Given the description of an element on the screen output the (x, y) to click on. 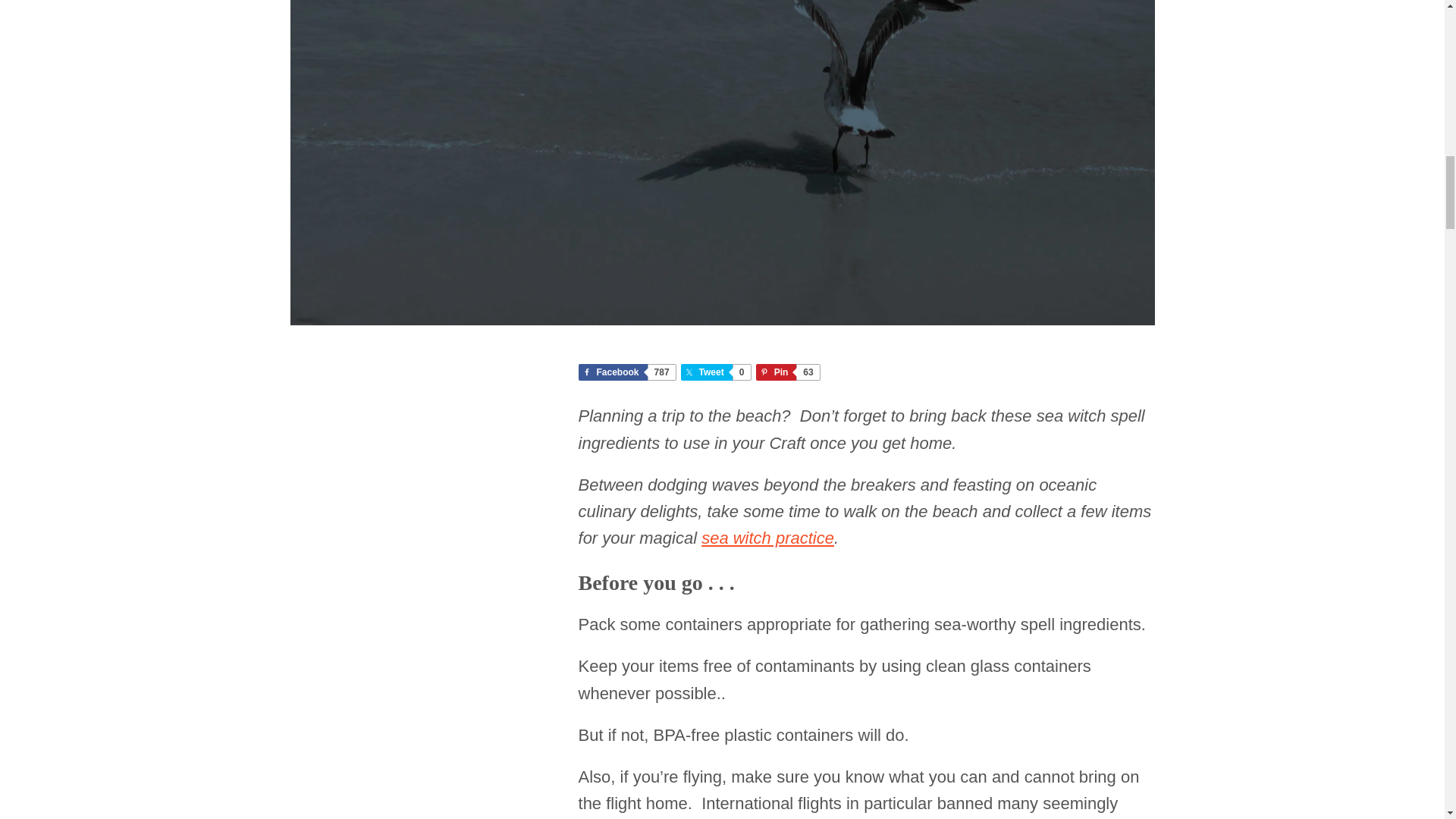
Share on Twitter (715, 371)
Share on Facebook (786, 371)
sea witch practice (715, 371)
Share on Pinterest (626, 371)
